Given the description of an element on the screen output the (x, y) to click on. 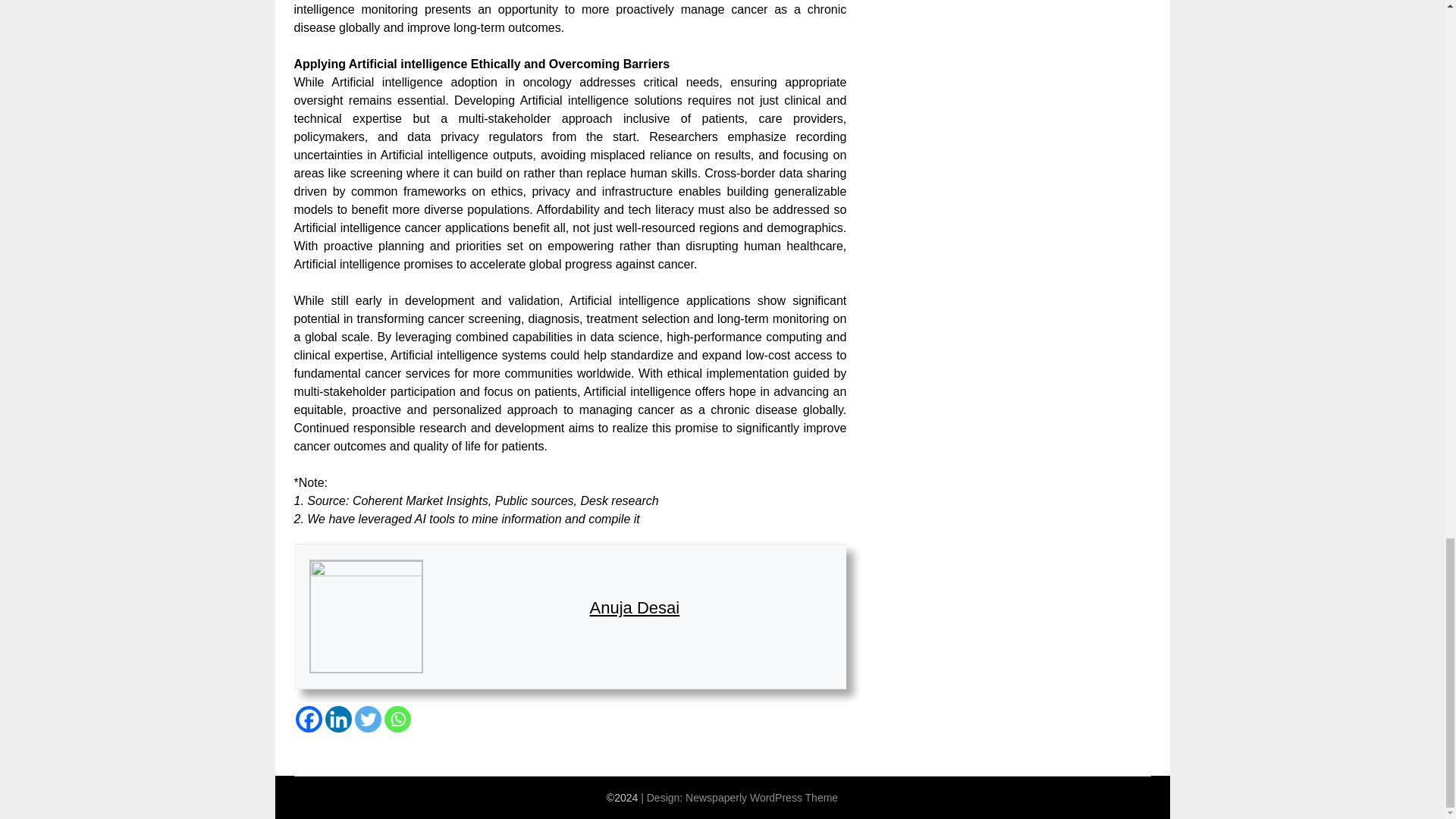
Newspaperly WordPress Theme (761, 797)
Linkedin (337, 718)
Facebook (308, 718)
Whatsapp (397, 718)
Twitter (368, 718)
Anuja Desai (634, 607)
